Given the description of an element on the screen output the (x, y) to click on. 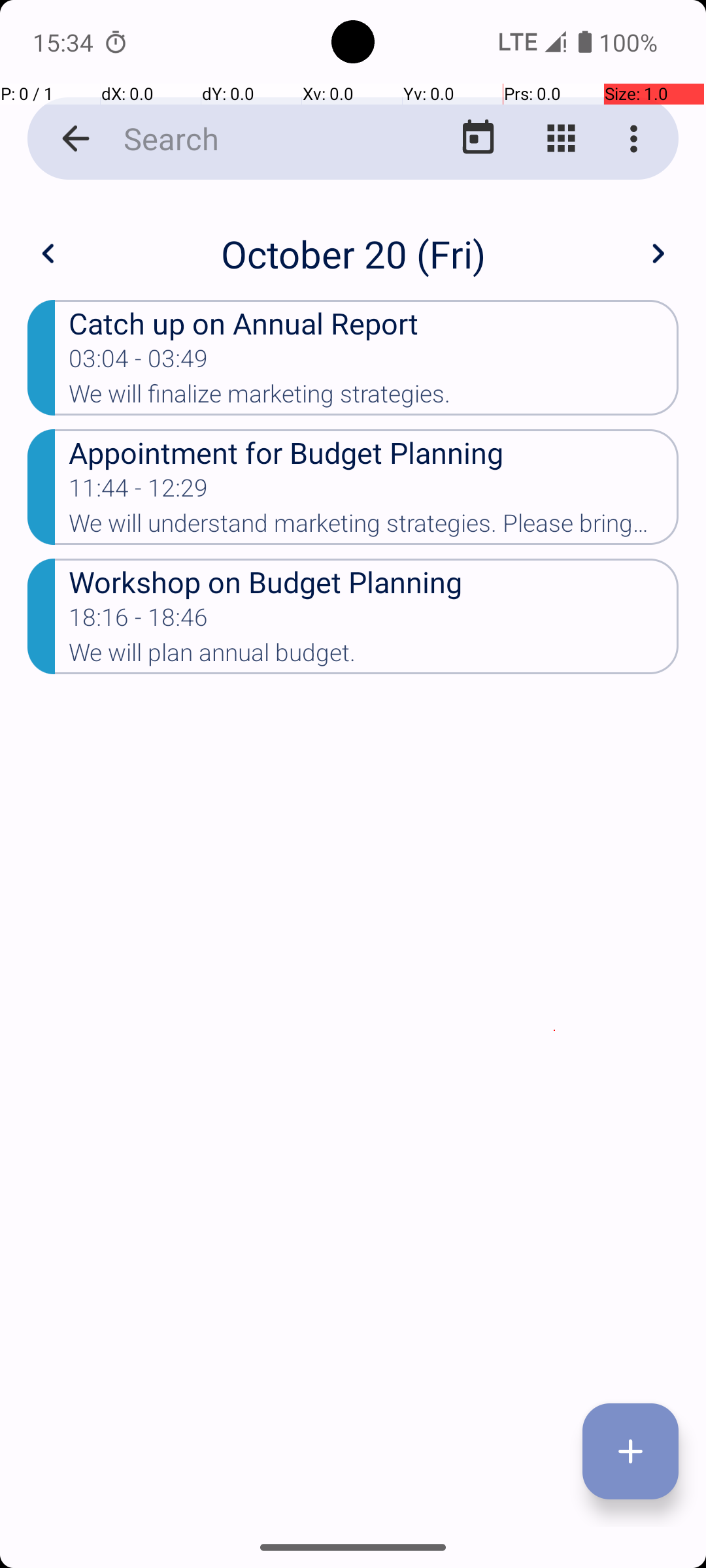
October 20 (Fri) Element type: android.widget.TextView (352, 253)
03:04 - 03:49 Element type: android.widget.TextView (137, 362)
We will finalize marketing strategies. Element type: android.widget.TextView (373, 397)
11:44 - 12:29 Element type: android.widget.TextView (137, 491)
We will understand marketing strategies. Please bring relevant documents. Element type: android.widget.TextView (373, 526)
18:16 - 18:46 Element type: android.widget.TextView (137, 620)
We will plan annual budget. Element type: android.widget.TextView (373, 656)
